Given the description of an element on the screen output the (x, y) to click on. 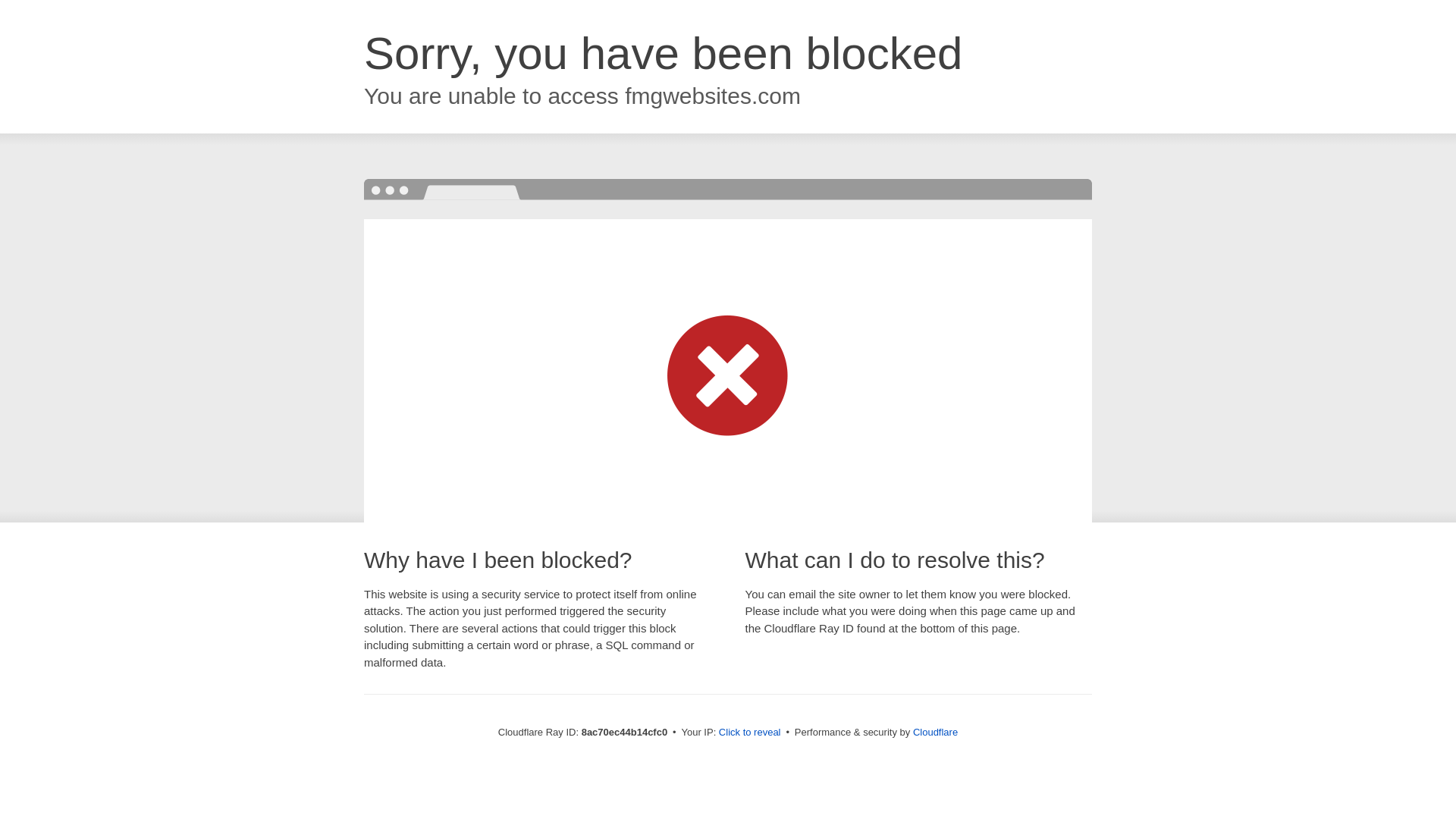
Cloudflare (935, 731)
Click to reveal (749, 732)
